Given the description of an element on the screen output the (x, y) to click on. 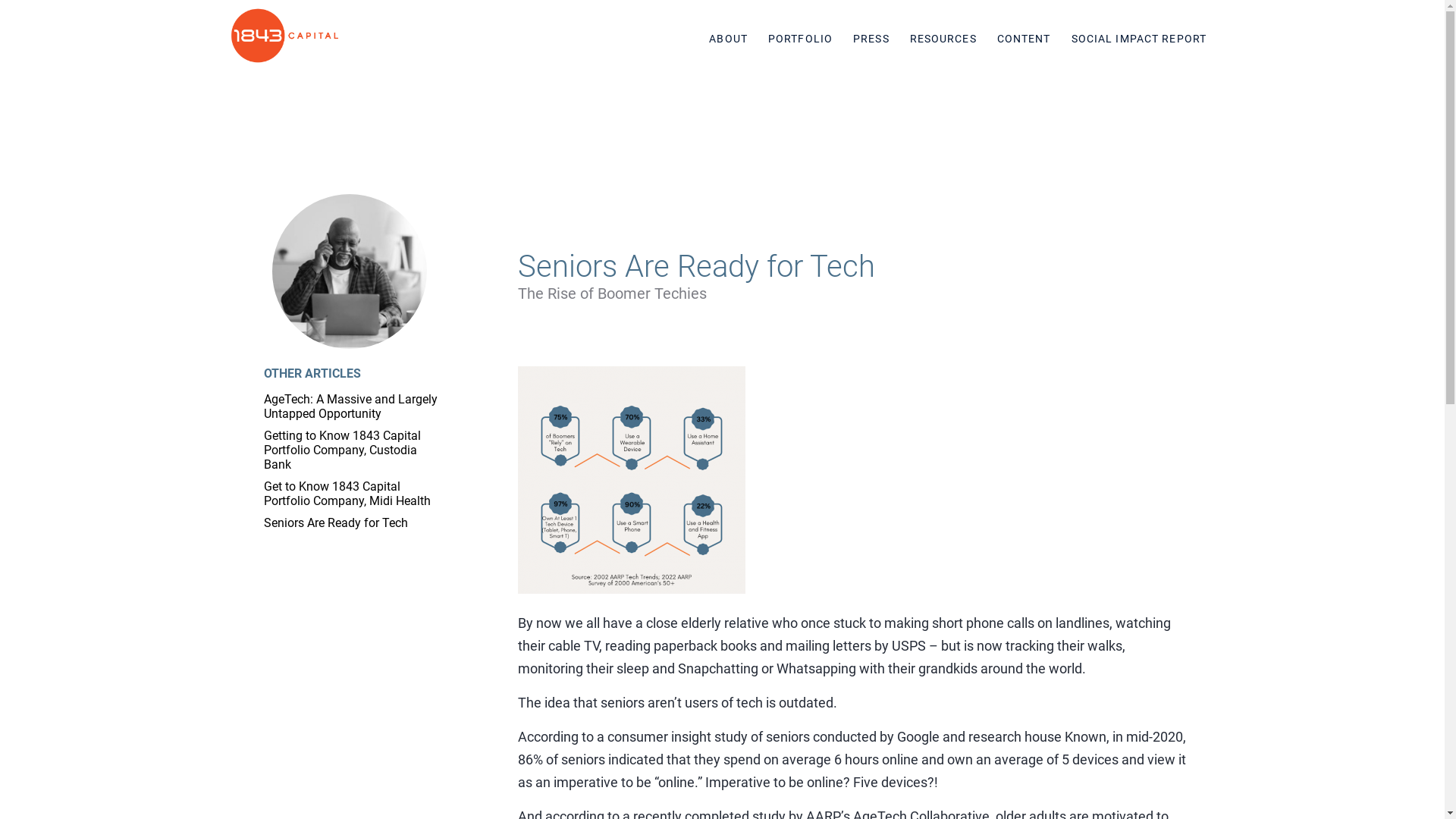
on average 6 hours online and own an average of 5 devices Element type: text (938, 759)
Get to Know 1843 Capital Portfolio Company, Midi Health Element type: text (346, 493)
CONTENT Element type: text (1023, 38)
Seniors Are Ready for Tech Element type: text (335, 522)
AgeTech: A Massive and Largely Untapped Opportunity Element type: text (350, 406)
PRESS Element type: text (871, 38)
Known Element type: text (1085, 736)
PORTFOLIO Element type: text (800, 38)
SOCIAL IMPACT REPORT Element type: text (1138, 38)
RESOURCES Element type: text (943, 38)
ABOUT Element type: text (728, 38)
